Given the description of an element on the screen output the (x, y) to click on. 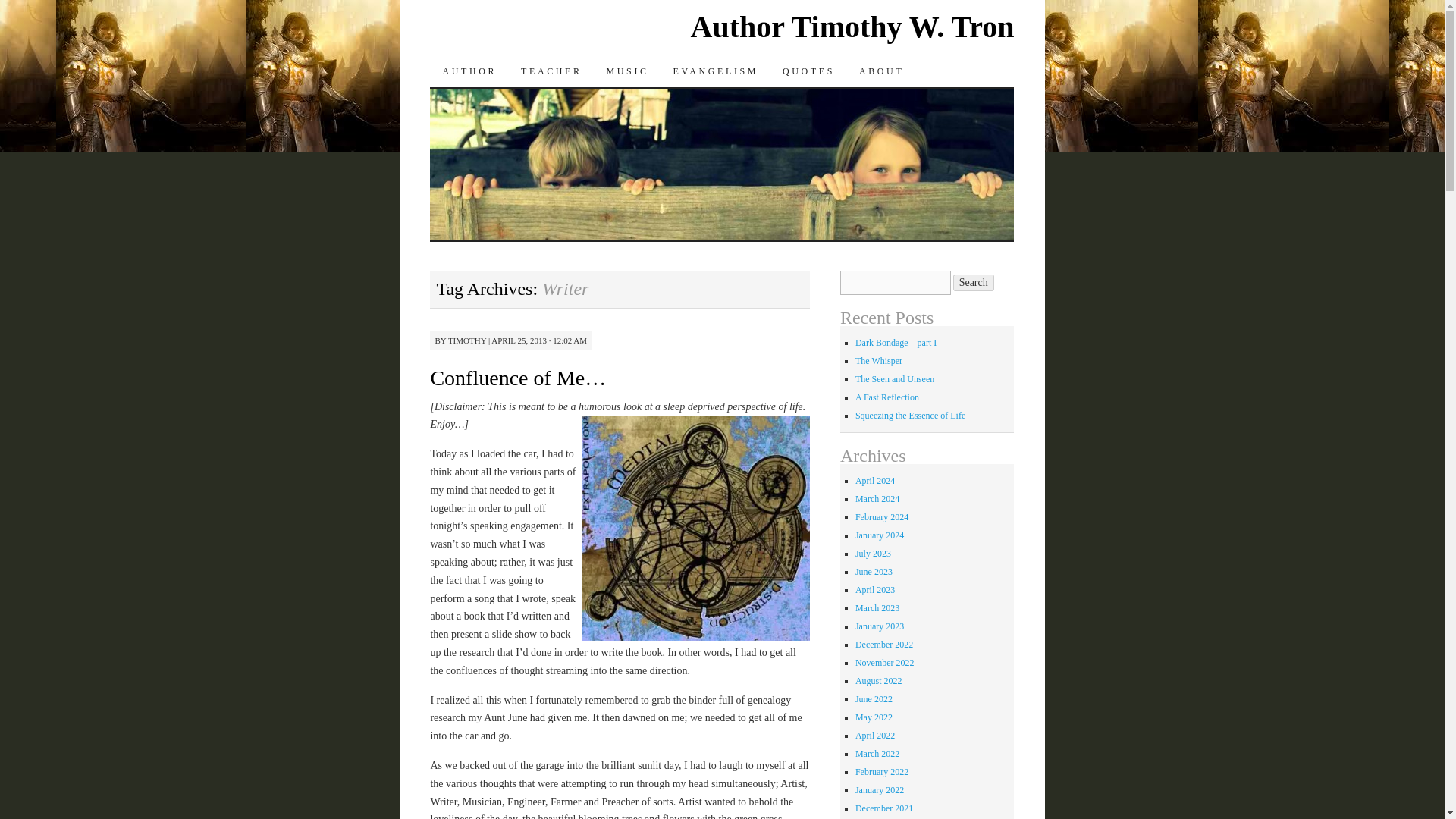
SKIP TO CONTENT (440, 101)
AUTHOR (468, 70)
Author Timothy W. Tron (852, 26)
ABOUT (881, 70)
EVANGELISM (715, 70)
Search (973, 282)
QUOTES (808, 70)
View all posts by Timothy (467, 339)
Bruecke to Heaven (468, 70)
MUSIC (627, 70)
Skip to content (440, 101)
TIMOTHY (467, 339)
TEACHER (551, 70)
Author Timothy W. Tron (852, 26)
